Given the description of an element on the screen output the (x, y) to click on. 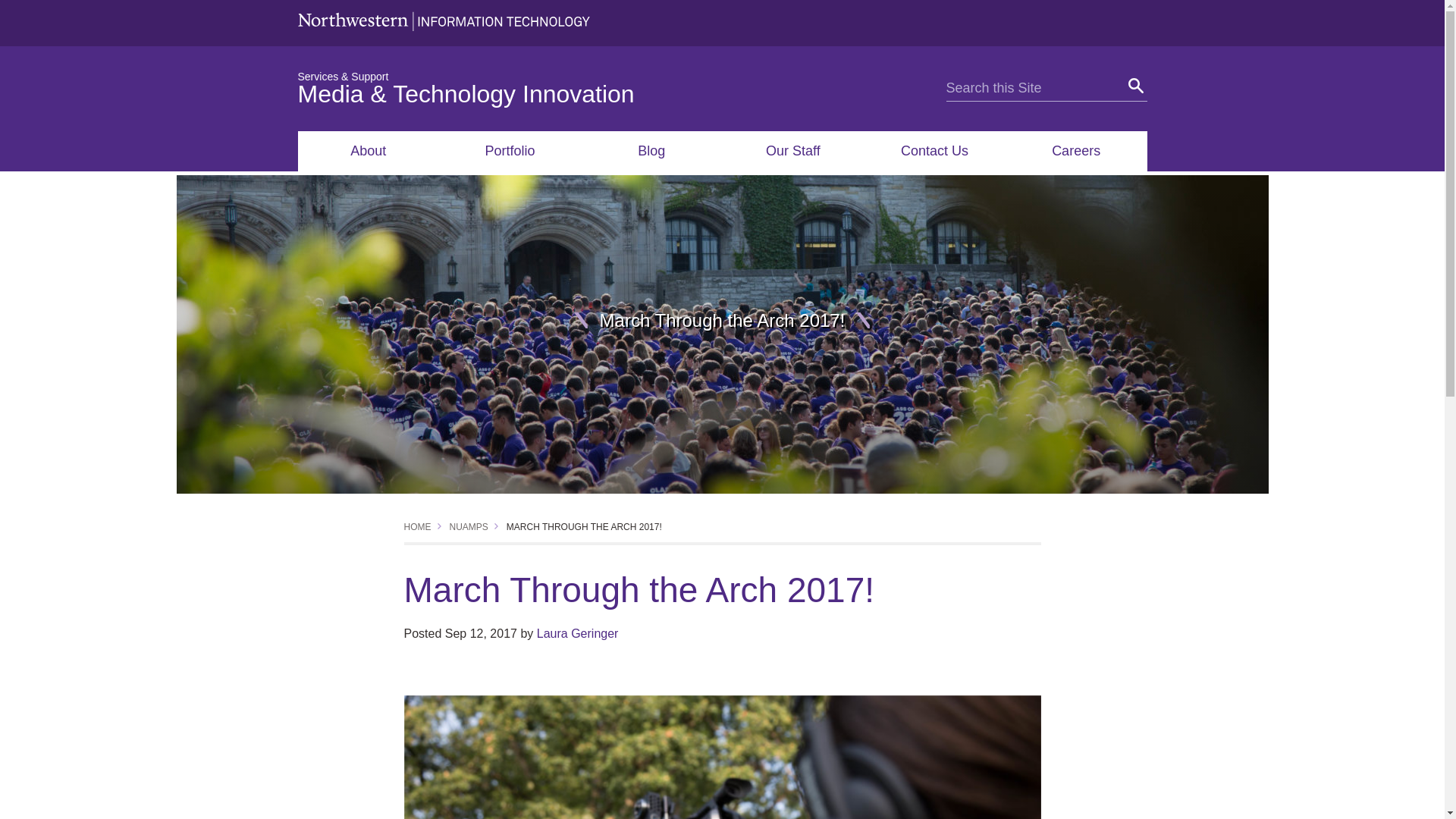
Blog (651, 151)
Portfolio (509, 151)
Laura Geringer (577, 633)
HOME (416, 526)
About (368, 151)
March Through the Arch 2017! (584, 526)
Contact Us (934, 151)
Careers (1076, 151)
Our Staff (792, 151)
Home (416, 526)
NUAMPS (467, 526)
